Given the description of an element on the screen output the (x, y) to click on. 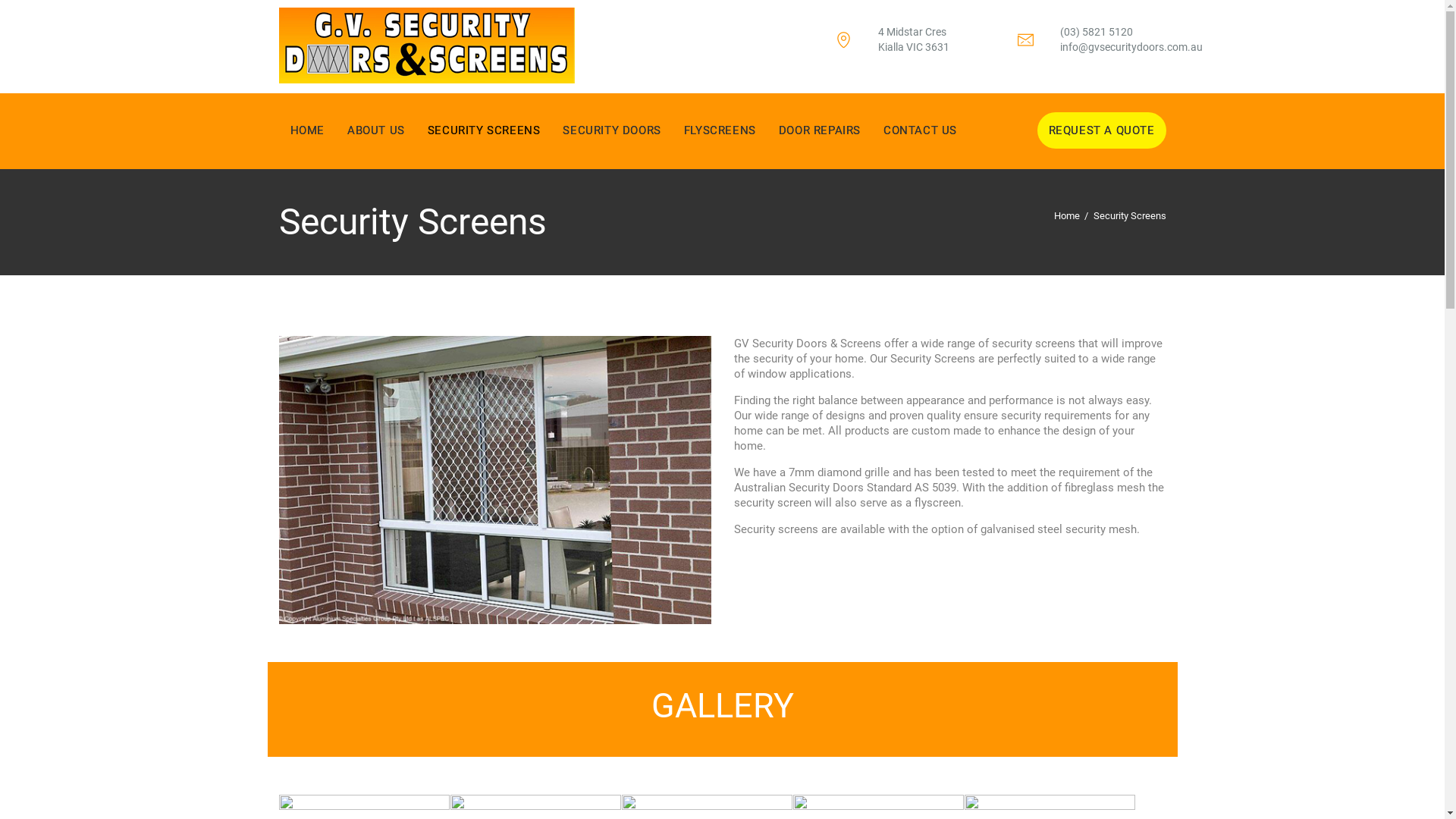
DOOR REPAIRS Element type: text (819, 130)
CONTACT US Element type: text (920, 130)
HOME Element type: text (306, 130)
REQUEST A QUOTE Element type: text (1101, 130)
Home Element type: text (1066, 215)
SECURITY DOORS Element type: text (611, 130)
(03) 5821 5120 Element type: text (1096, 31)
SECURITY SCREENS Element type: text (483, 130)
FLYSCREENS Element type: text (720, 130)
ABOUT US Element type: text (375, 130)
info@gvsecuritydoors.com.au Element type: text (1131, 46)
